Given the description of an element on the screen output the (x, y) to click on. 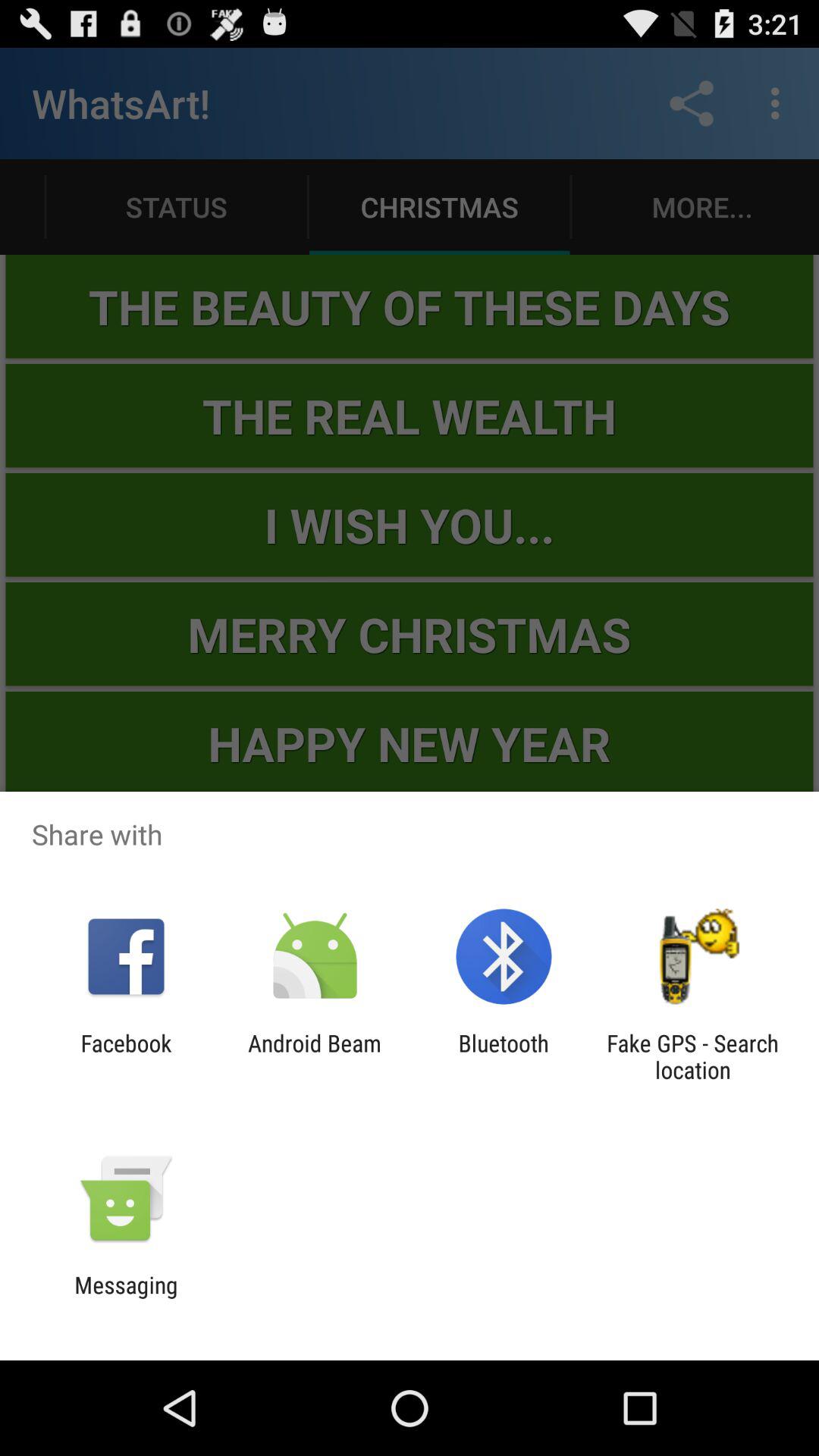
swipe until the messaging app (126, 1298)
